Given the description of an element on the screen output the (x, y) to click on. 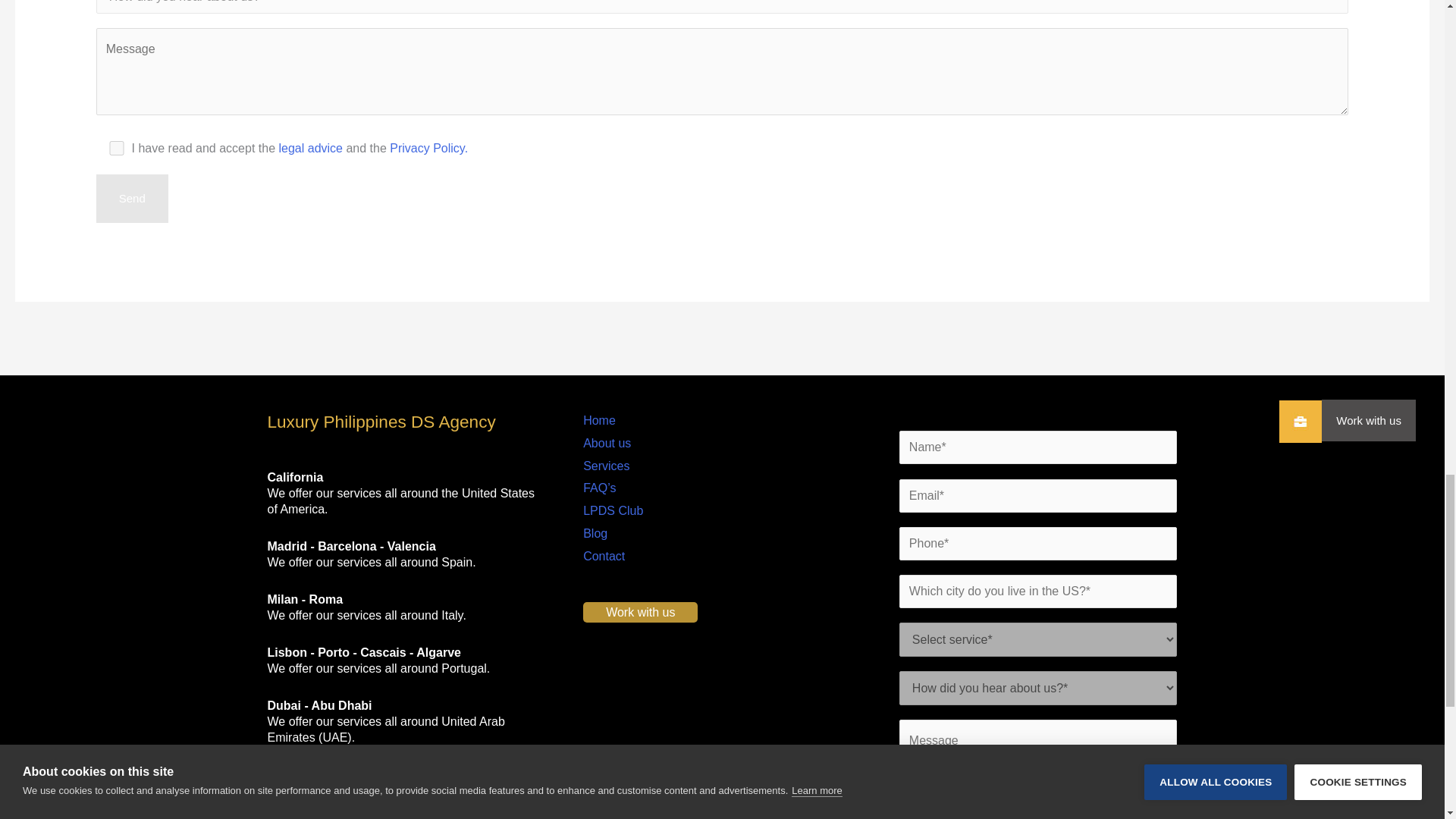
Send (132, 198)
1 (116, 147)
